Given the description of an element on the screen output the (x, y) to click on. 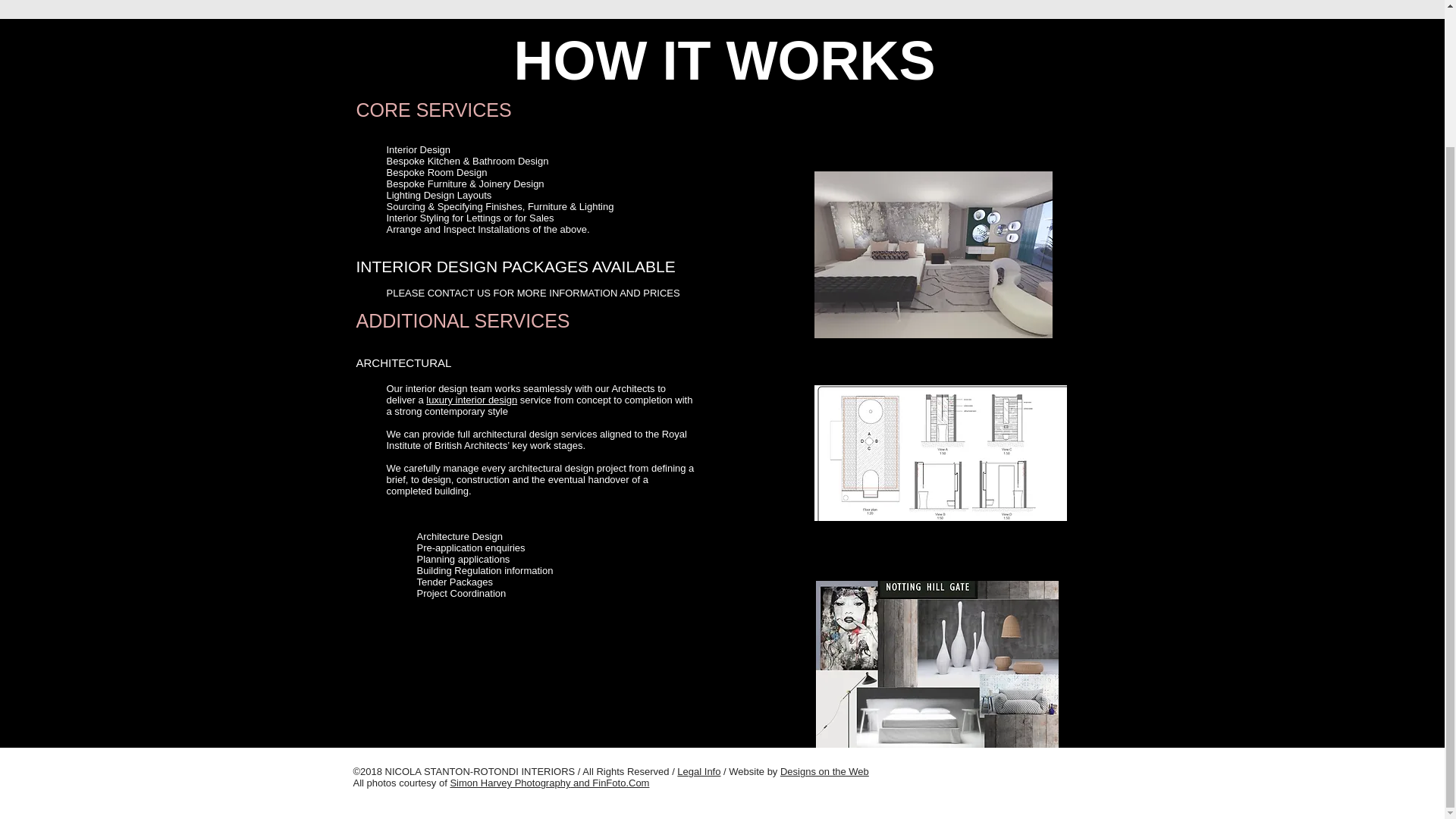
Legal Info (698, 771)
Image 14-08-2020 at 14.51.jpg (940, 452)
luxury interior design (471, 399)
Simon Harvey Photography (509, 782)
Bedroom 8 2.jpg (932, 254)
